Given the description of an element on the screen output the (x, y) to click on. 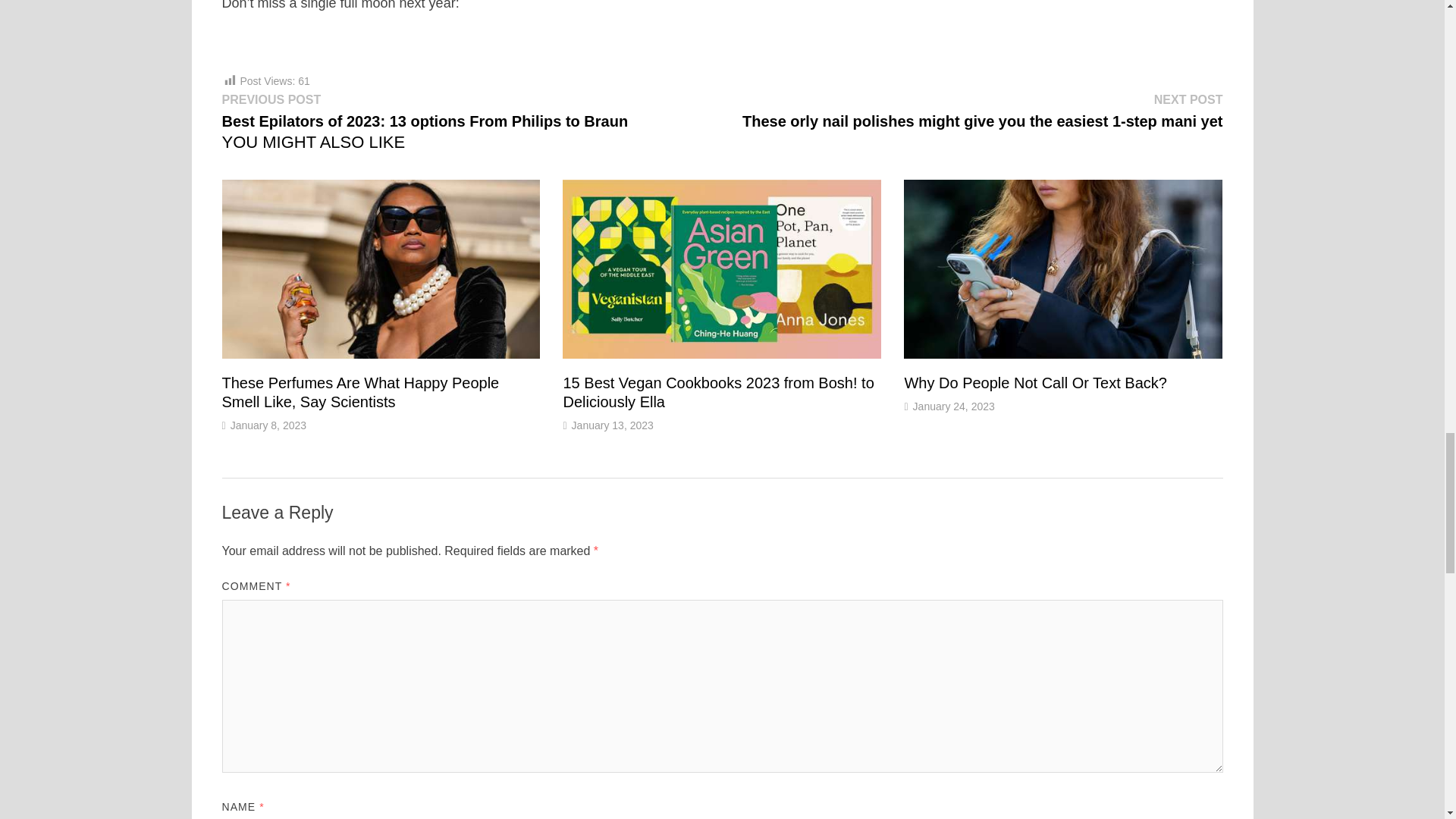
15 Best Vegan Cookbooks 2023 from Bosh! to Deliciously Ella (717, 392)
Why Do People Not Call Or Text Back? (1035, 382)
15 Best Vegan Cookbooks 2023 from Bosh! to Deliciously Ella (717, 392)
January 13, 2023 (612, 425)
January 24, 2023 (953, 406)
Why Do People Not Call Or Text Back? (1035, 382)
January 8, 2023 (267, 425)
